Given the description of an element on the screen output the (x, y) to click on. 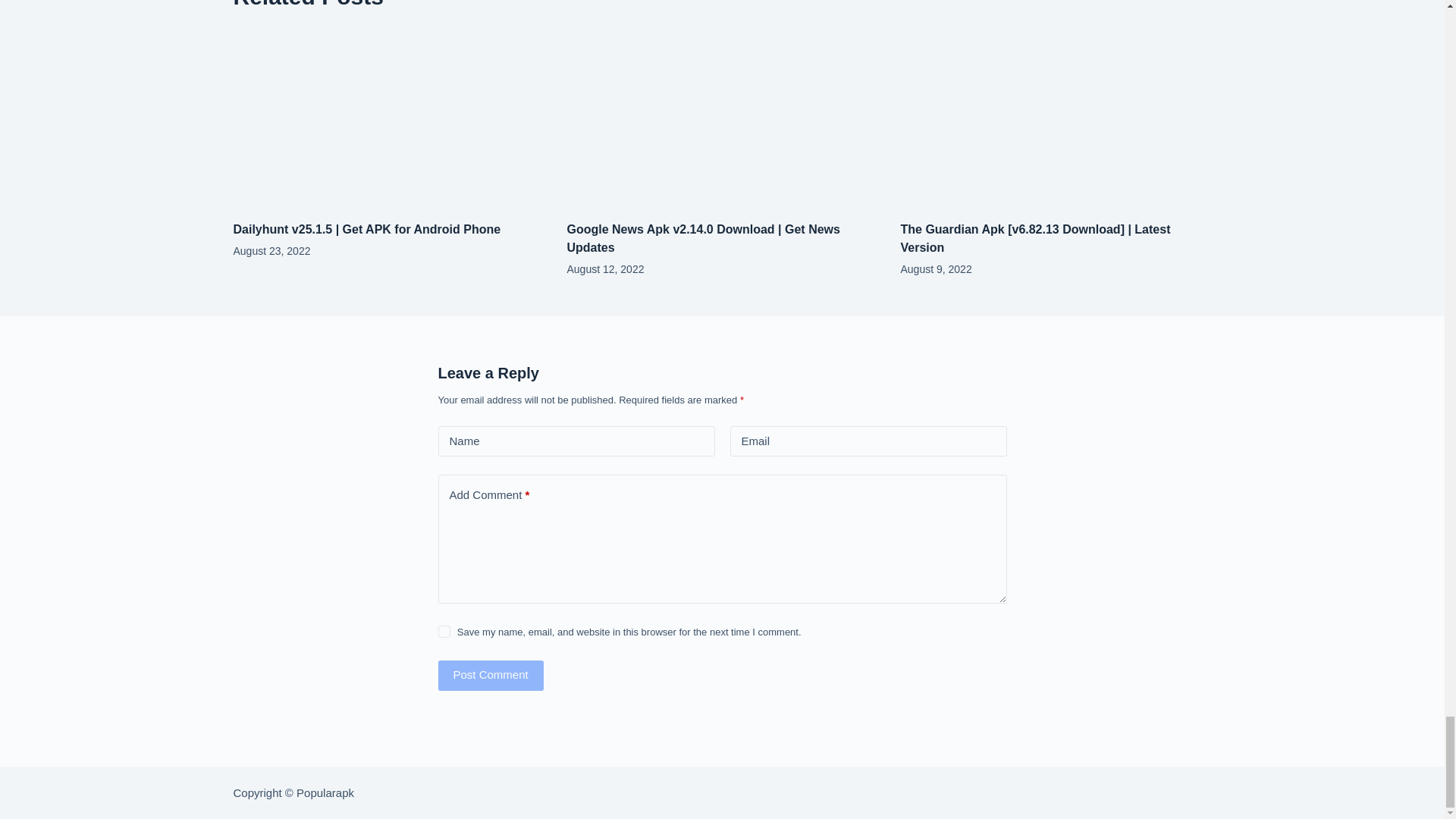
yes (443, 631)
